Given the description of an element on the screen output the (x, y) to click on. 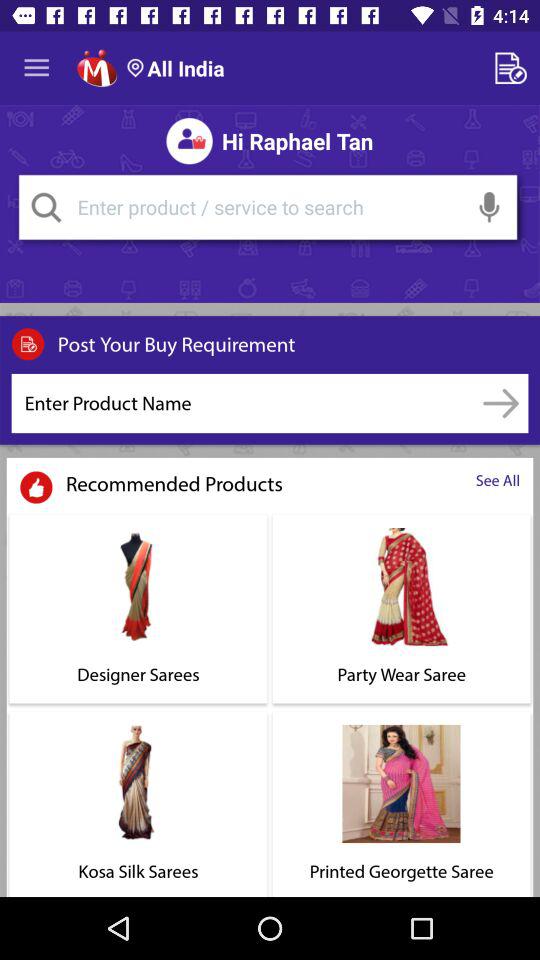
click to profile (96, 67)
